Given the description of an element on the screen output the (x, y) to click on. 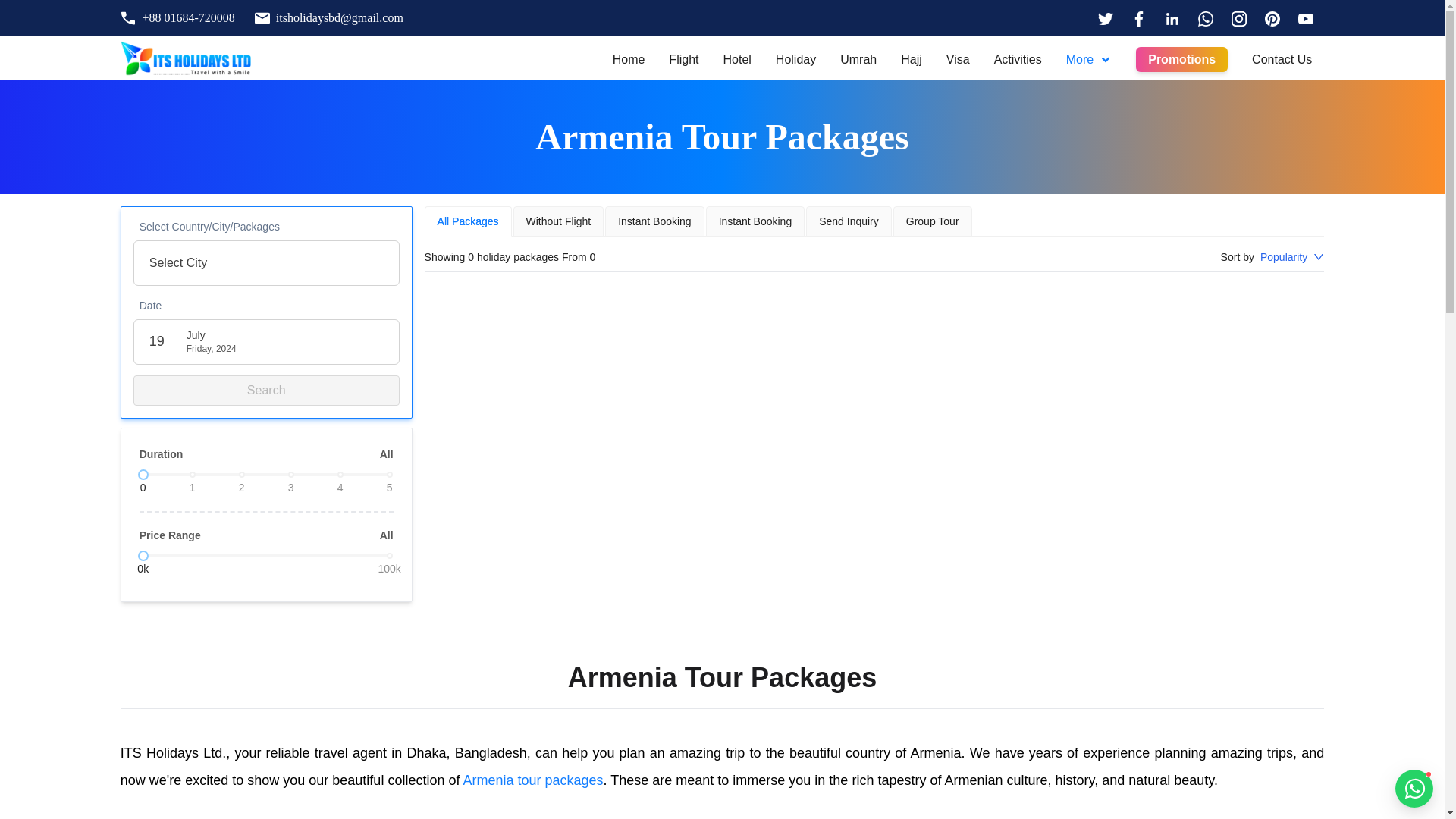
Contact Us (1281, 59)
Promotions (1181, 59)
Search (265, 390)
Activities (1018, 59)
Armenia tour packages (532, 780)
Hajj (911, 59)
Hotel (736, 59)
Flight (683, 59)
Home (628, 59)
Visa (957, 59)
Holiday (795, 59)
Umrah (858, 59)
